Given the description of an element on the screen output the (x, y) to click on. 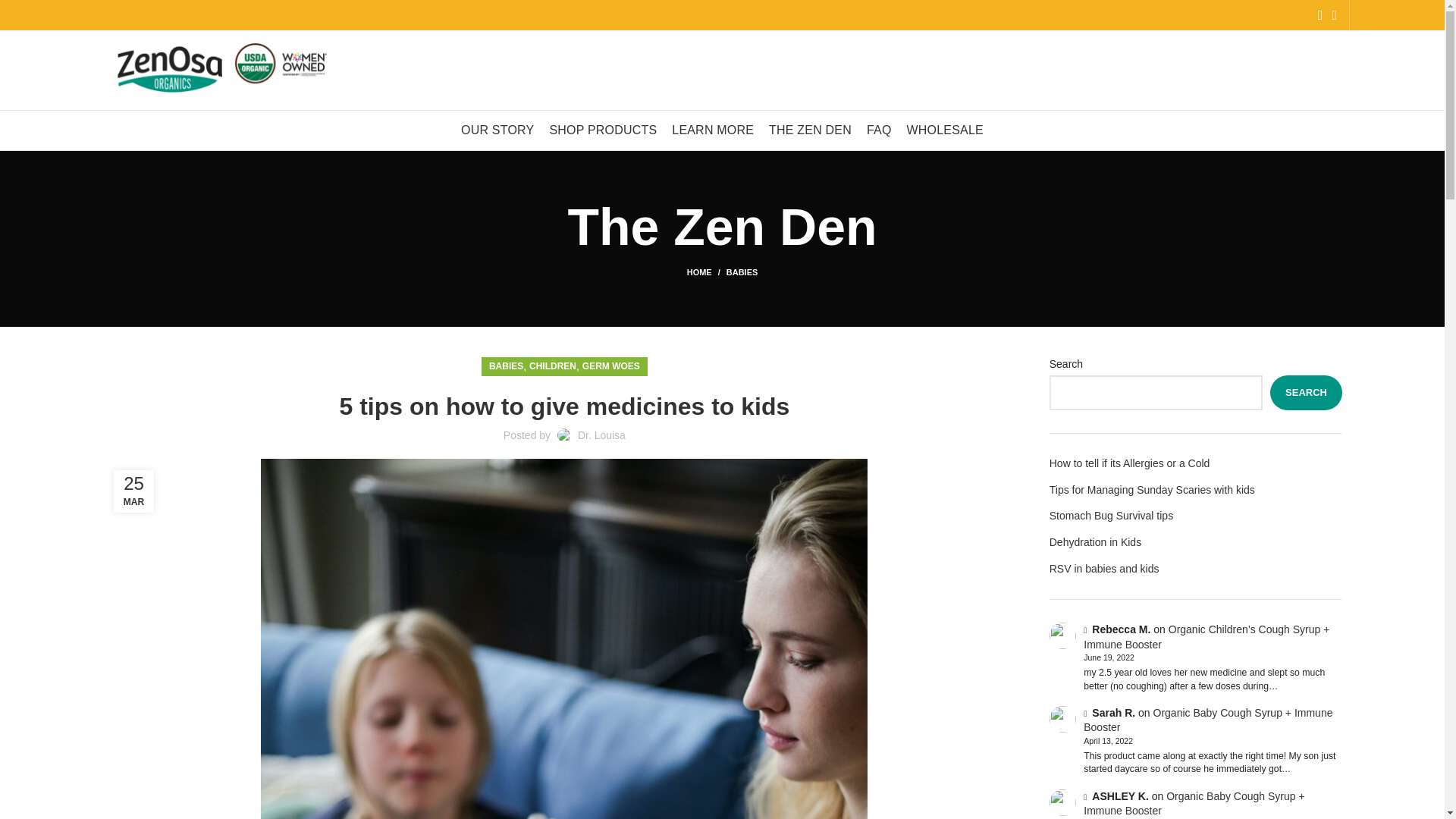
Stomach Bug Survival tips (1195, 516)
THE ZEN DEN (809, 130)
RSV in babies and kids (1195, 569)
BABIES (505, 366)
Tips for Managing Sunday Scaries with kids (1195, 490)
GERM WOES (611, 366)
BABIES (742, 271)
CHILDREN (552, 366)
OUR STORY (497, 130)
HOME (706, 272)
Dr. Louisa (602, 435)
LEARN MORE (712, 130)
SHOP PRODUCTS (602, 130)
WHOLESALE (945, 130)
How to tell if its Allergies or a Cold (1195, 463)
